Given the description of an element on the screen output the (x, y) to click on. 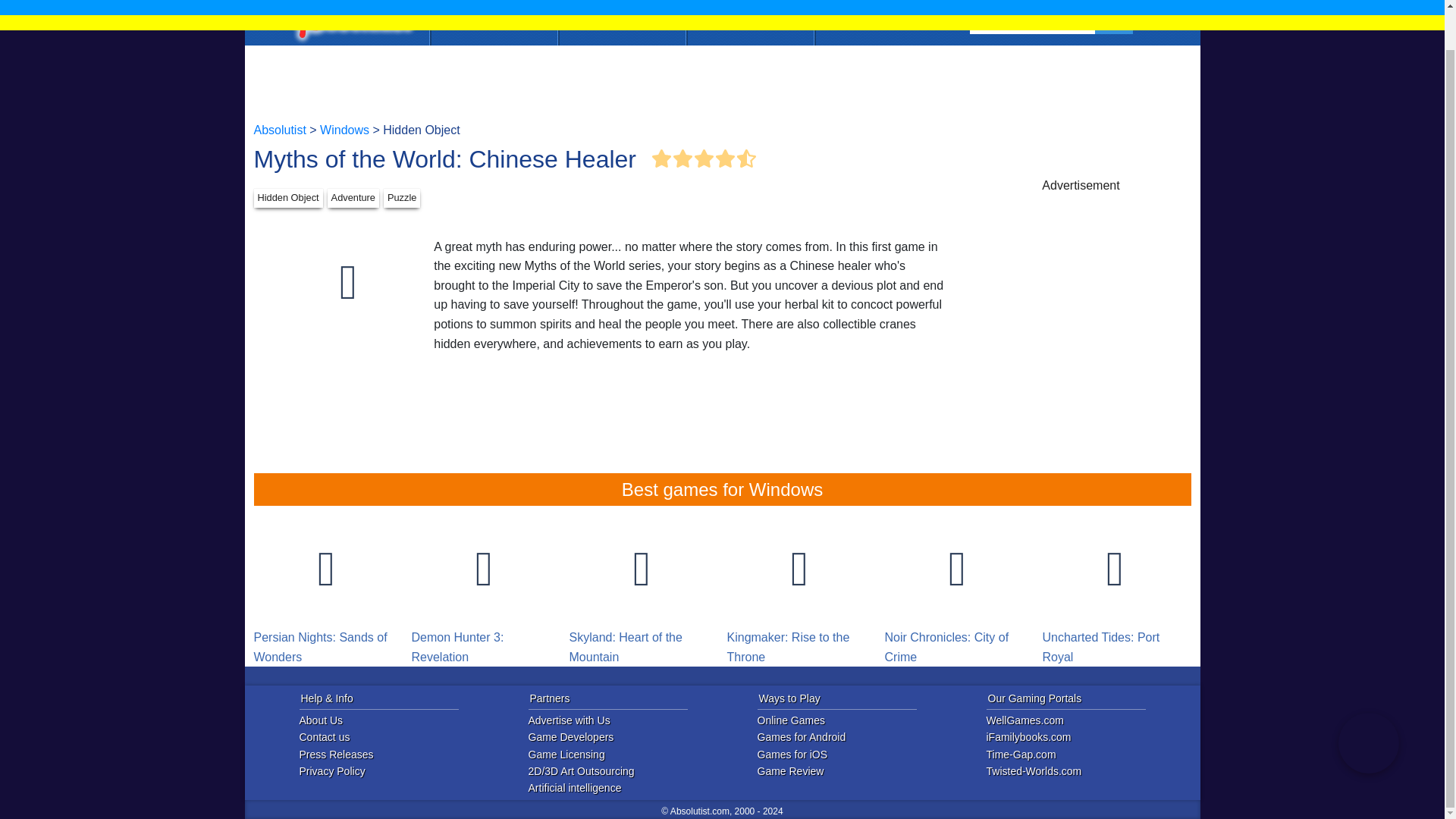
Absolutist (350, 2)
Absolutist (279, 130)
Kingmaker: Rise to the Throne (799, 590)
Skyland: Heart of the Mountain (641, 590)
Adventure (352, 198)
Noir Chronicles: City of Crime (956, 590)
Hidden Object (287, 198)
Persian Nights: Sands of Wonders (325, 590)
Demon Hunter 3: Revelation (483, 590)
Puzzle (402, 198)
Windows (344, 130)
